Given the description of an element on the screen output the (x, y) to click on. 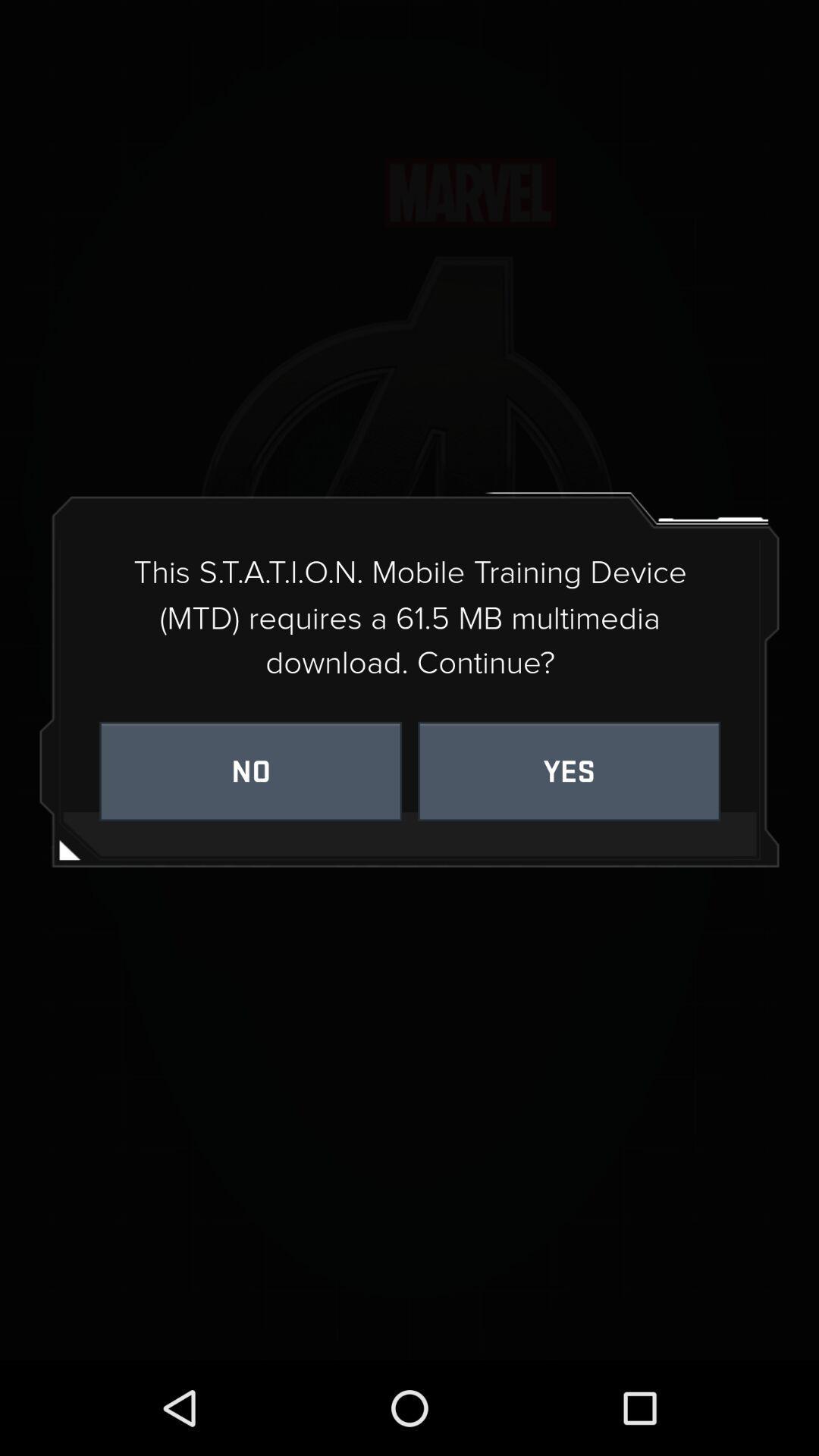
select the yes on the right (569, 771)
